Given the description of an element on the screen output the (x, y) to click on. 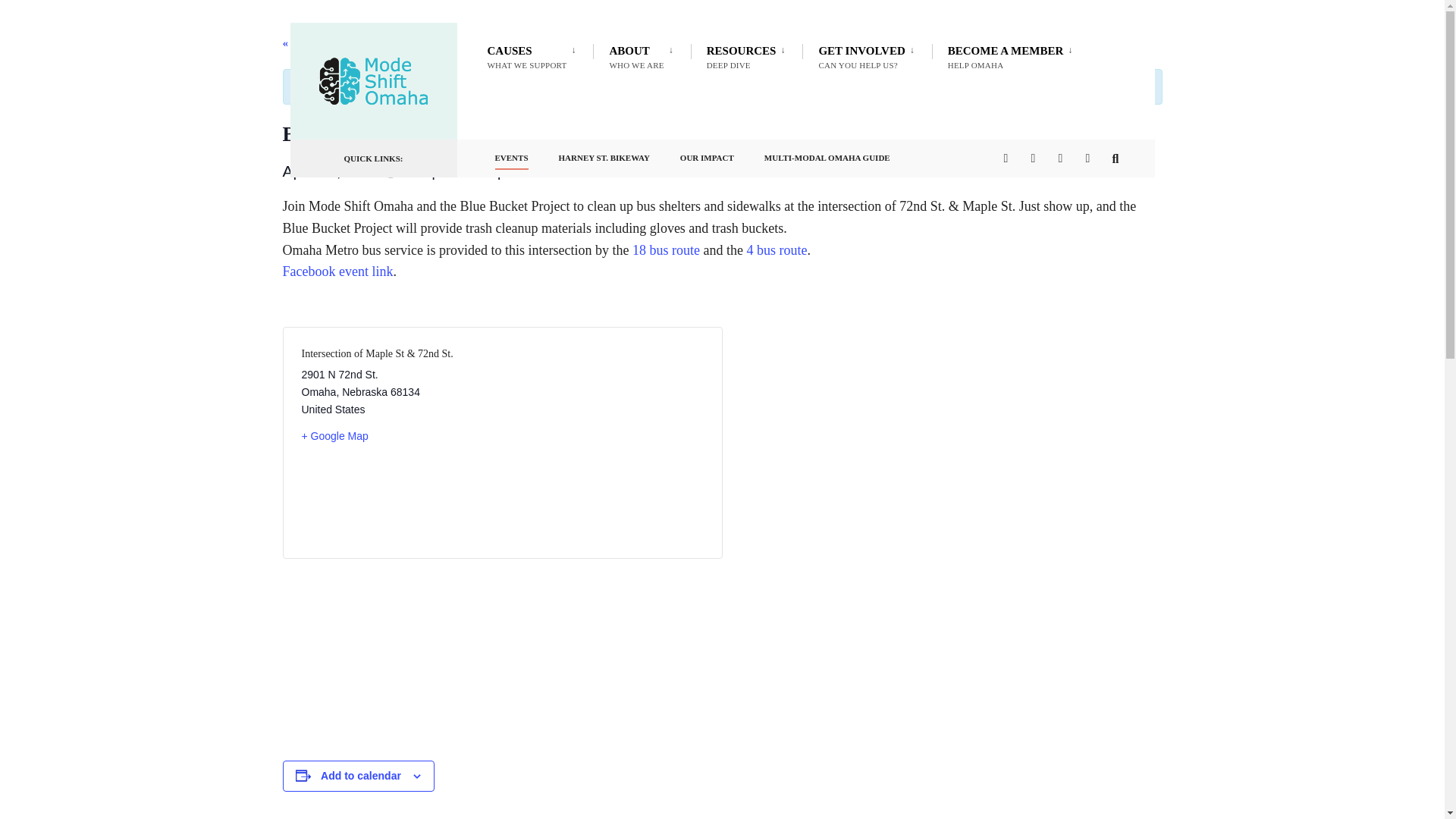
MULTI-MODAL OMAHA GUIDE (826, 154)
HARNEY ST. BIKEWAY (643, 56)
EVENTS (604, 154)
Skip to content (511, 154)
OUR IMPACT (533, 56)
Click to view a Google Map (706, 154)
Donate (1012, 56)
